Given the description of an element on the screen output the (x, y) to click on. 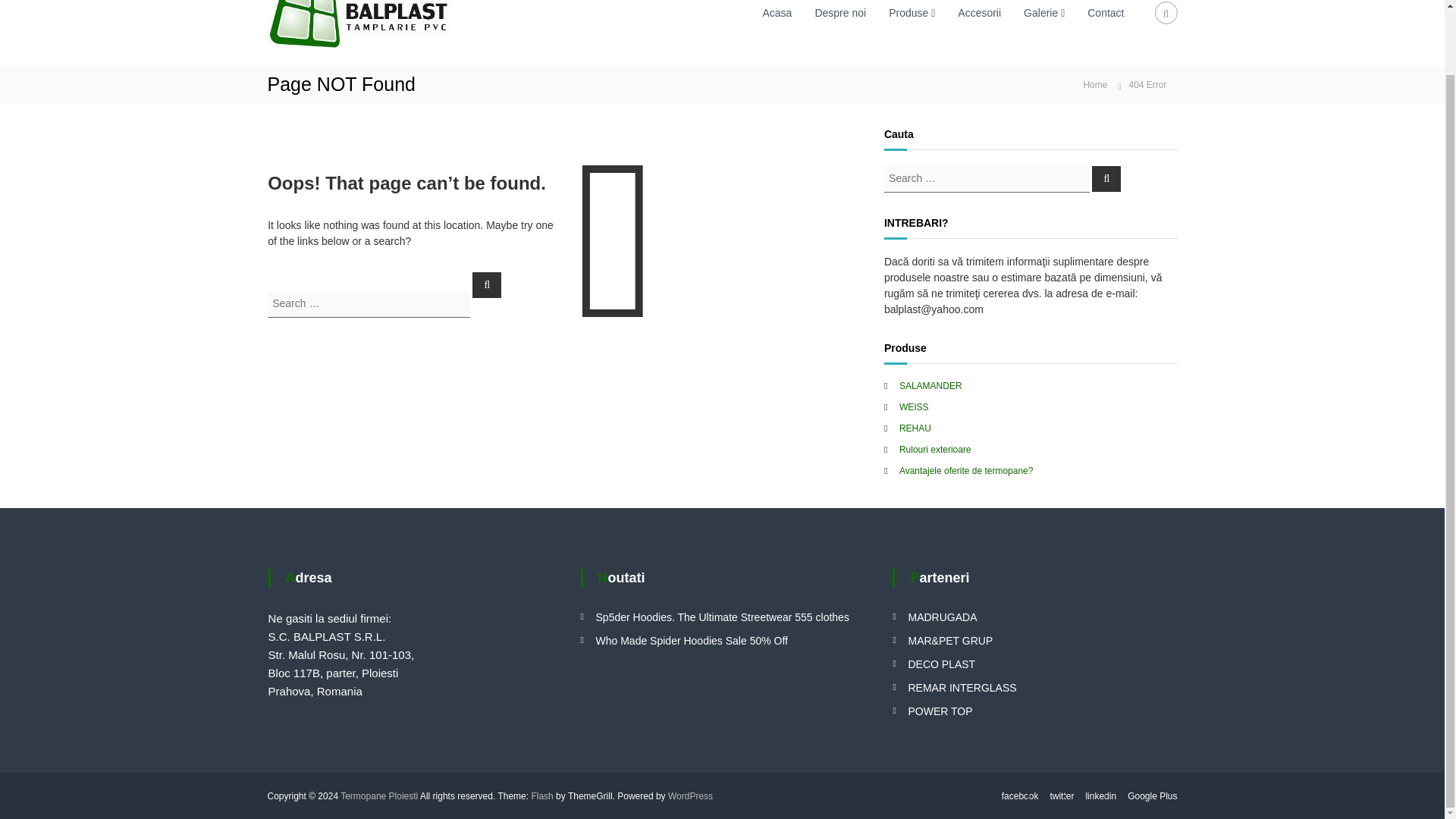
Rulouri exterioare (935, 449)
Avantajele oferite de termopane? (966, 470)
POWER TOP (939, 711)
REHAU (915, 428)
REMAR INTERGLASS (961, 686)
WEISS (913, 407)
Search (1106, 177)
Contact (1105, 11)
DECO PLAST (941, 664)
Flash (542, 795)
Produse (908, 11)
Home (1094, 83)
Home (1094, 83)
Accesorii (979, 11)
Galerie (1040, 11)
